Given the description of an element on the screen output the (x, y) to click on. 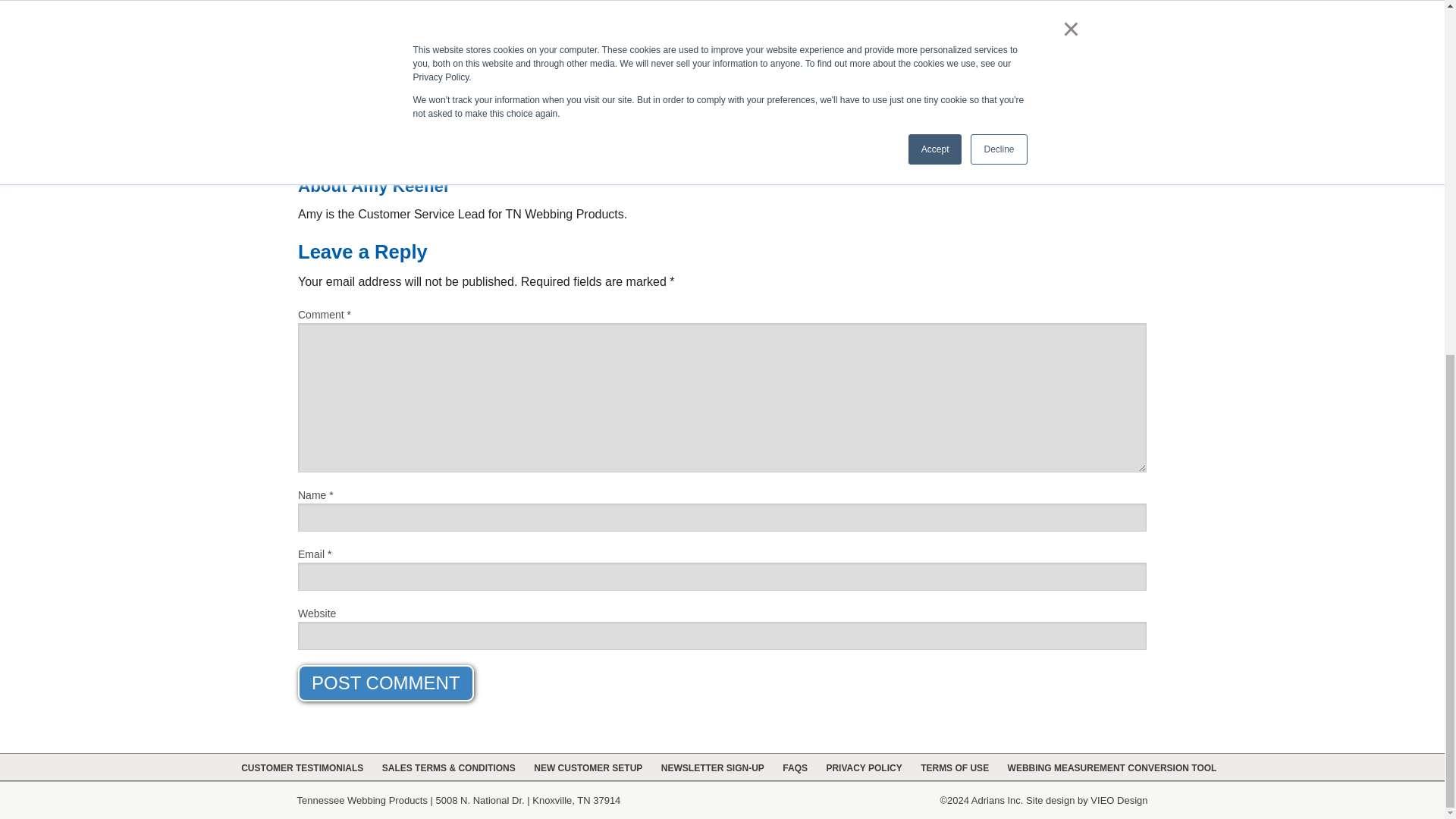
Post Comment (386, 683)
